Given the description of an element on the screen output the (x, y) to click on. 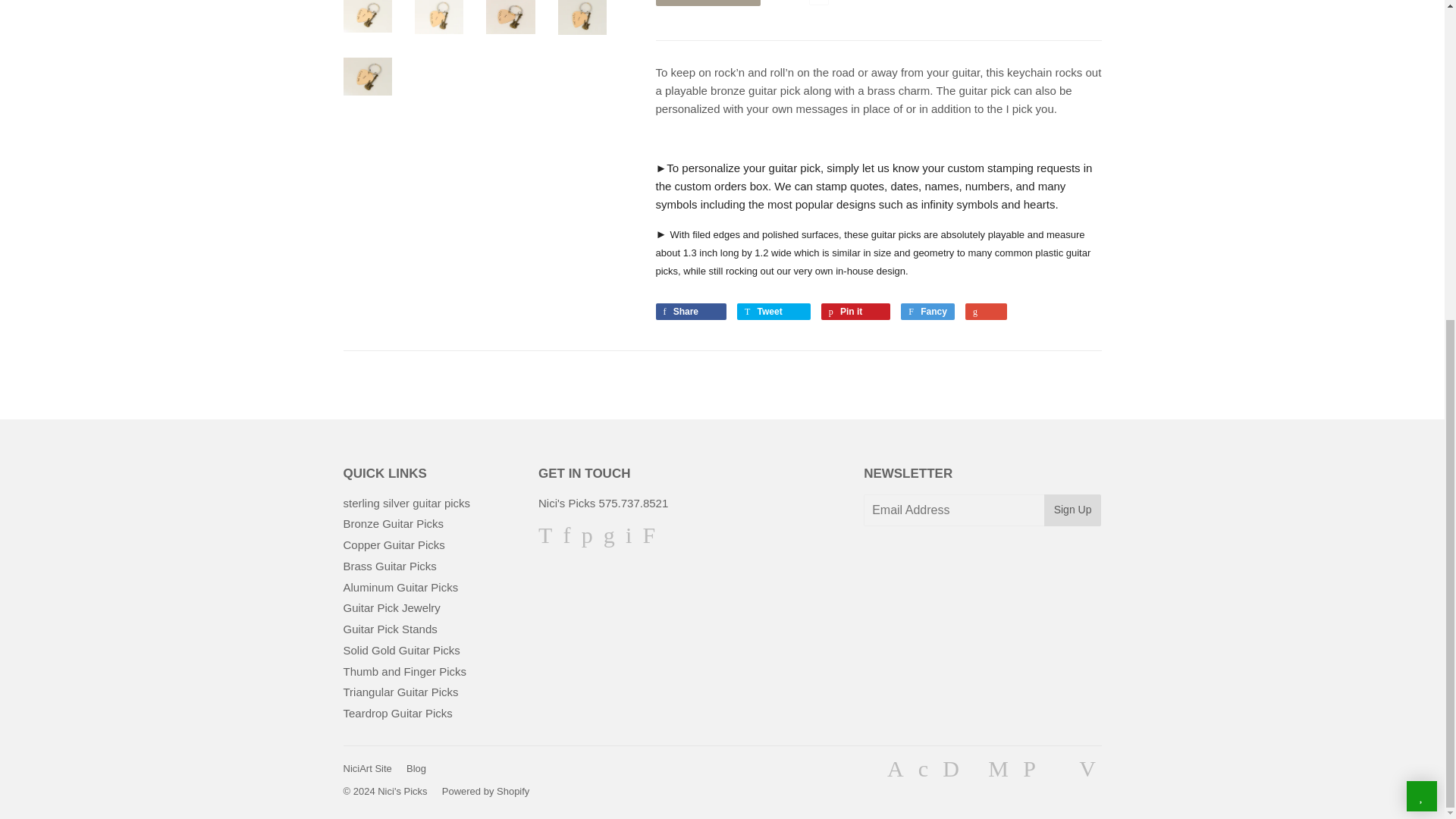
Add to Cart (707, 3)
Guitar Pick Jewelry (390, 607)
Guitar Pick Stands (389, 628)
Brass Guitar Picks (388, 565)
Thumb and Finger Picks (403, 671)
Solid Gold Guitar Picks (401, 649)
Share (690, 311)
Teardrop Guitar Picks (396, 712)
Bronze Guitar Picks (393, 522)
Tweet (773, 311)
Fancy (928, 311)
Aluminum Guitar Picks (400, 586)
sterling silver guitar picks (406, 502)
Triangular Guitar Picks (400, 691)
Copper Guitar Picks (393, 544)
